Given the description of an element on the screen output the (x, y) to click on. 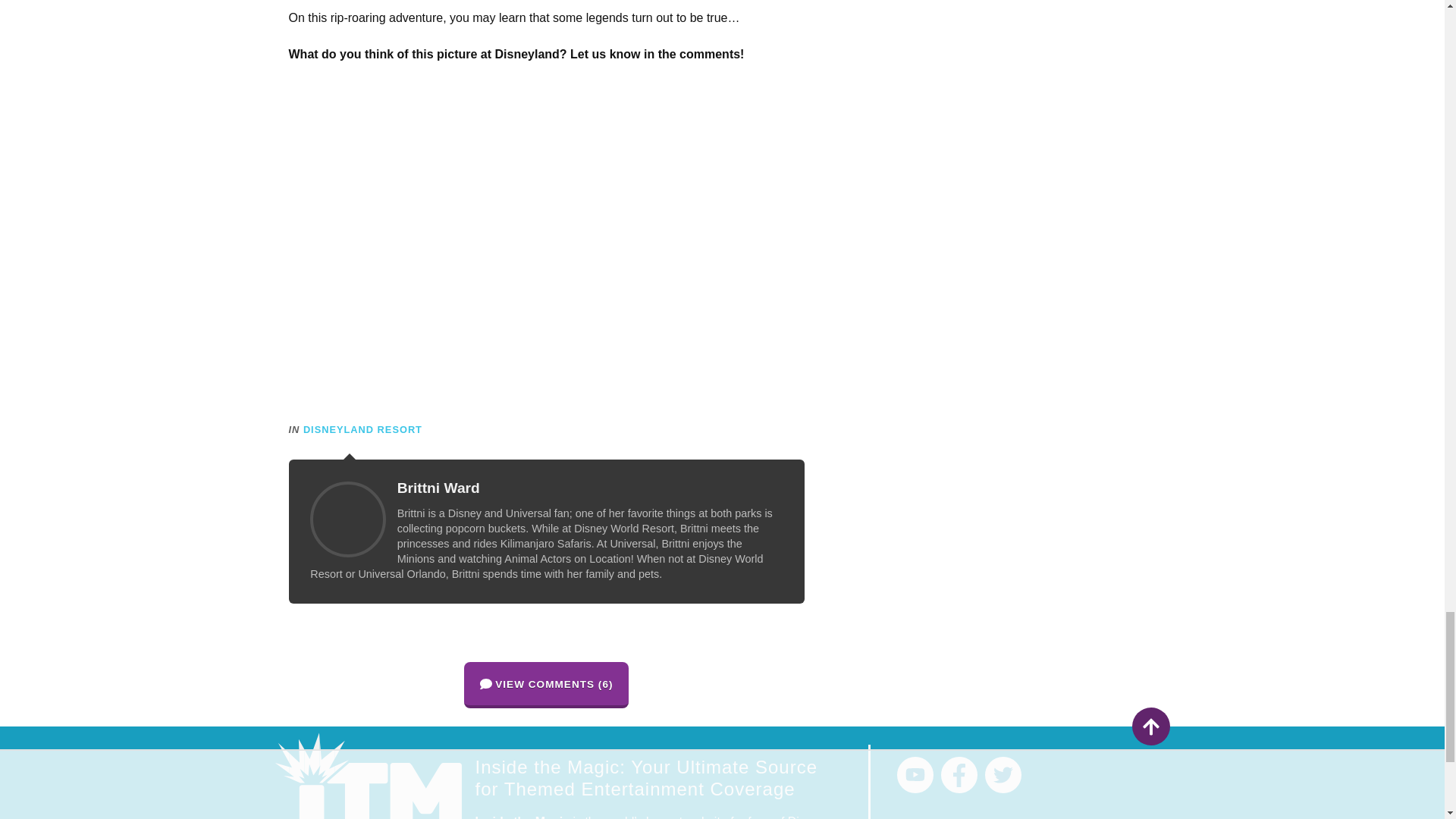
Return to Top (1150, 726)
